Given the description of an element on the screen output the (x, y) to click on. 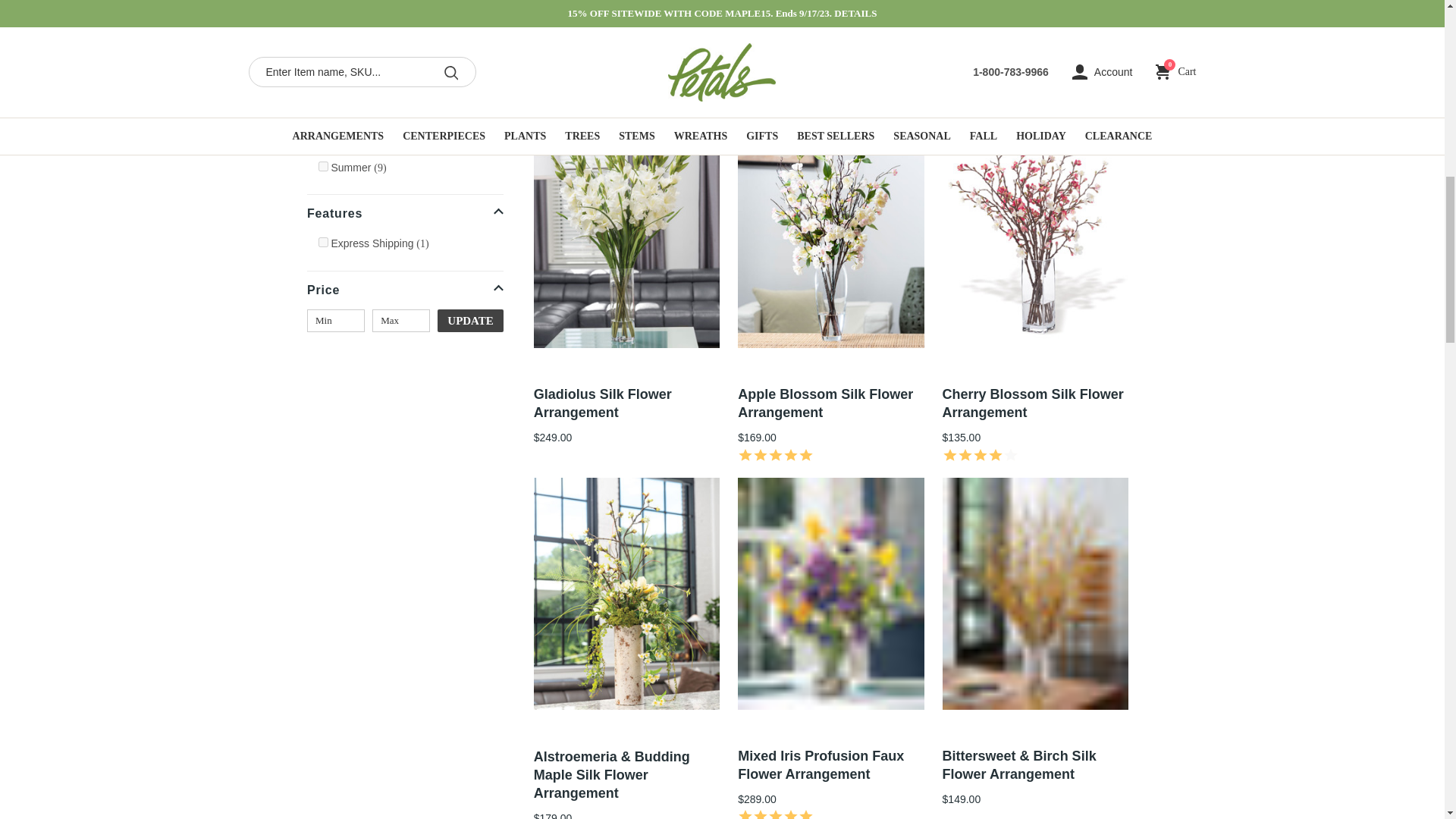
Mixed Iris Profusion Faux Flower Arrangement (821, 765)
on (323, 140)
on (323, 242)
on (323, 12)
Cherry Blossom Silk Flower Arrangement (1033, 403)
Gladiolus Silk Flower Arrangement (602, 403)
on (323, 38)
Mixed Wildflowers Silk Flower Arrangement (811, 23)
on (323, 113)
Update (470, 320)
